Given the description of an element on the screen output the (x, y) to click on. 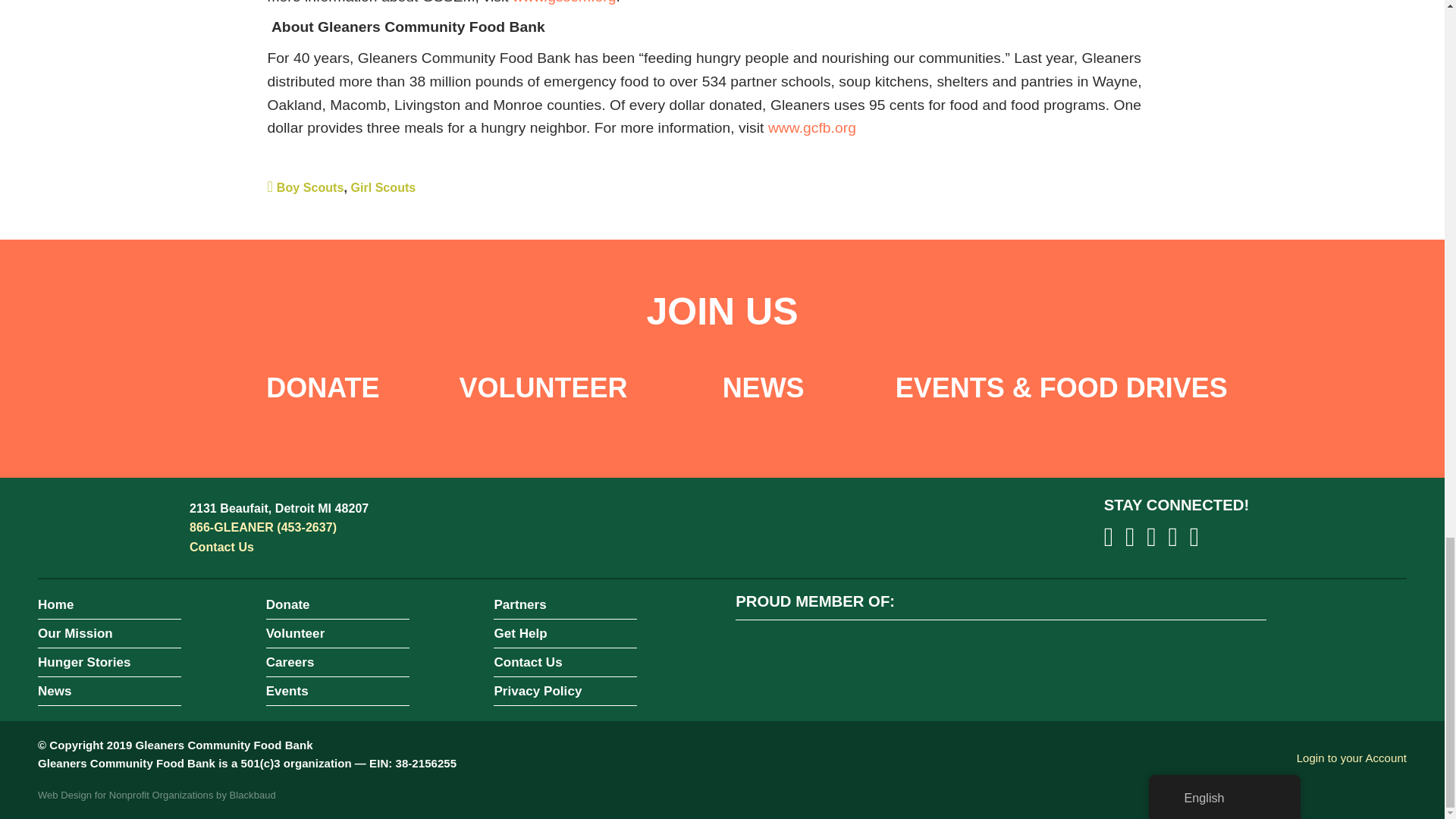
GCFB Logo White (105, 528)
Feeding America Logo White (772, 657)
Call to Donate! (262, 526)
